Given the description of an element on the screen output the (x, y) to click on. 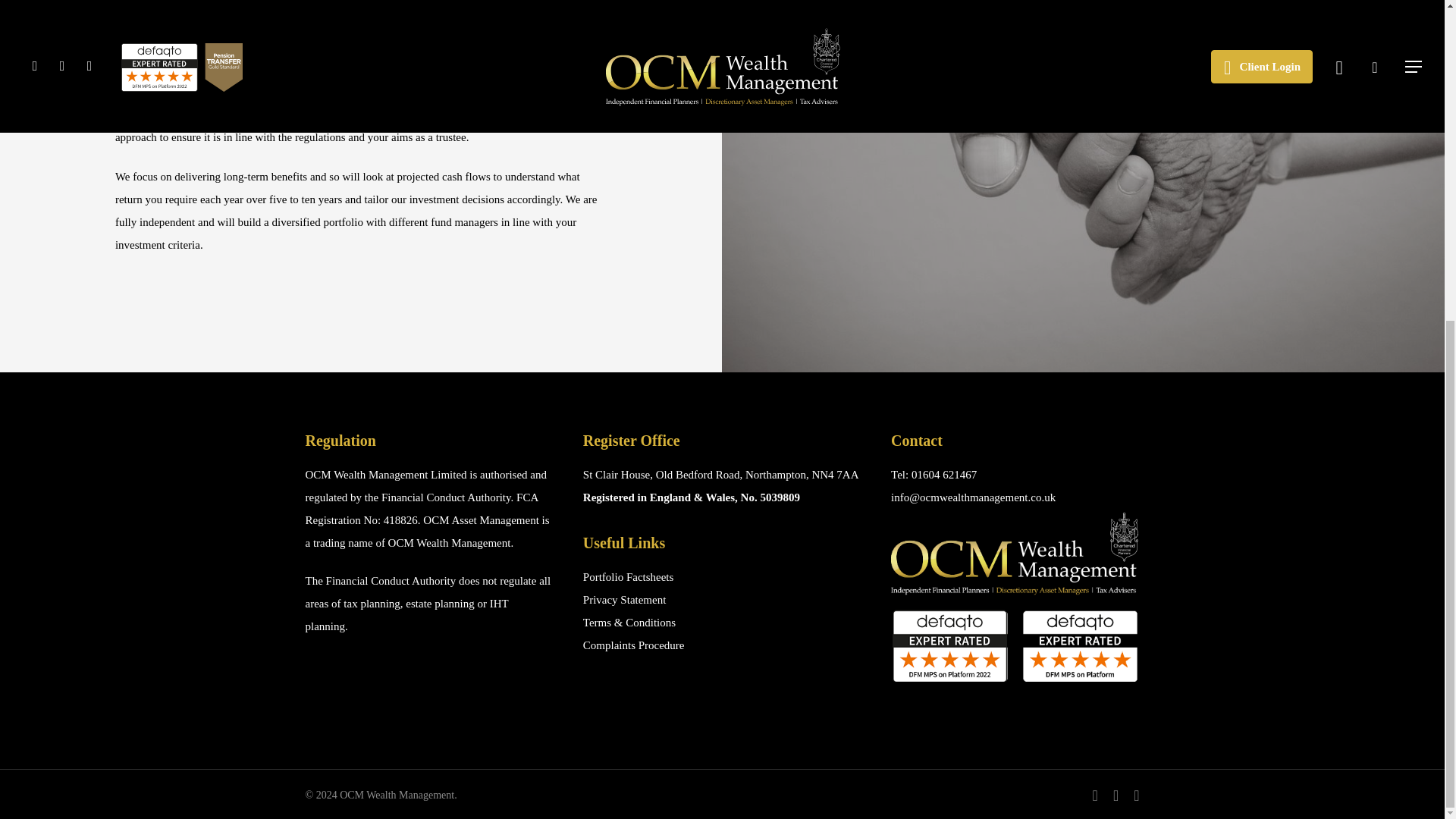
Complaints Procedure (633, 645)
Privacy Statement (624, 599)
Portfolio Factsheets (628, 576)
